Given the description of an element on the screen output the (x, y) to click on. 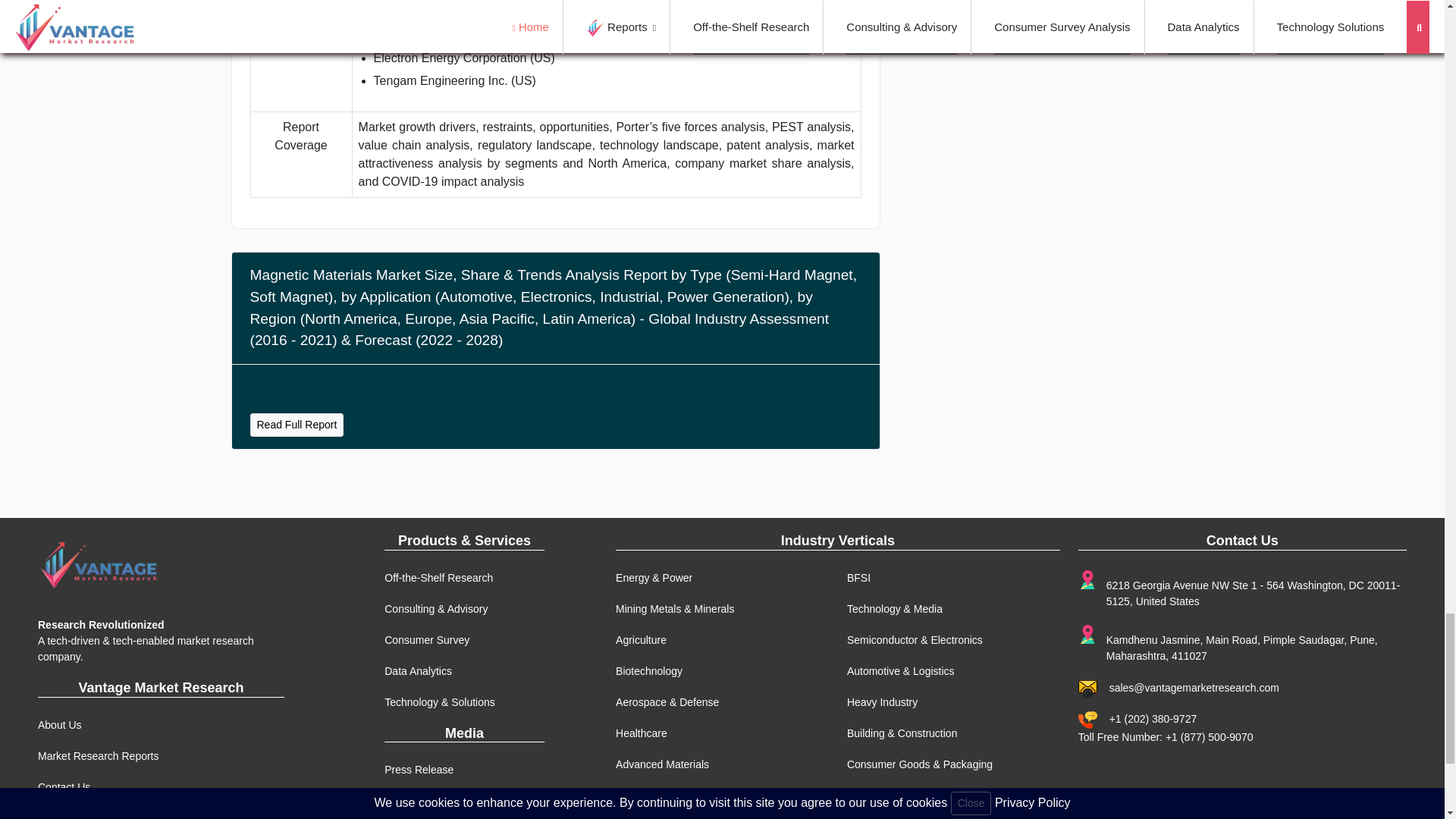
Read Full Report (296, 424)
